Given the description of an element on the screen output the (x, y) to click on. 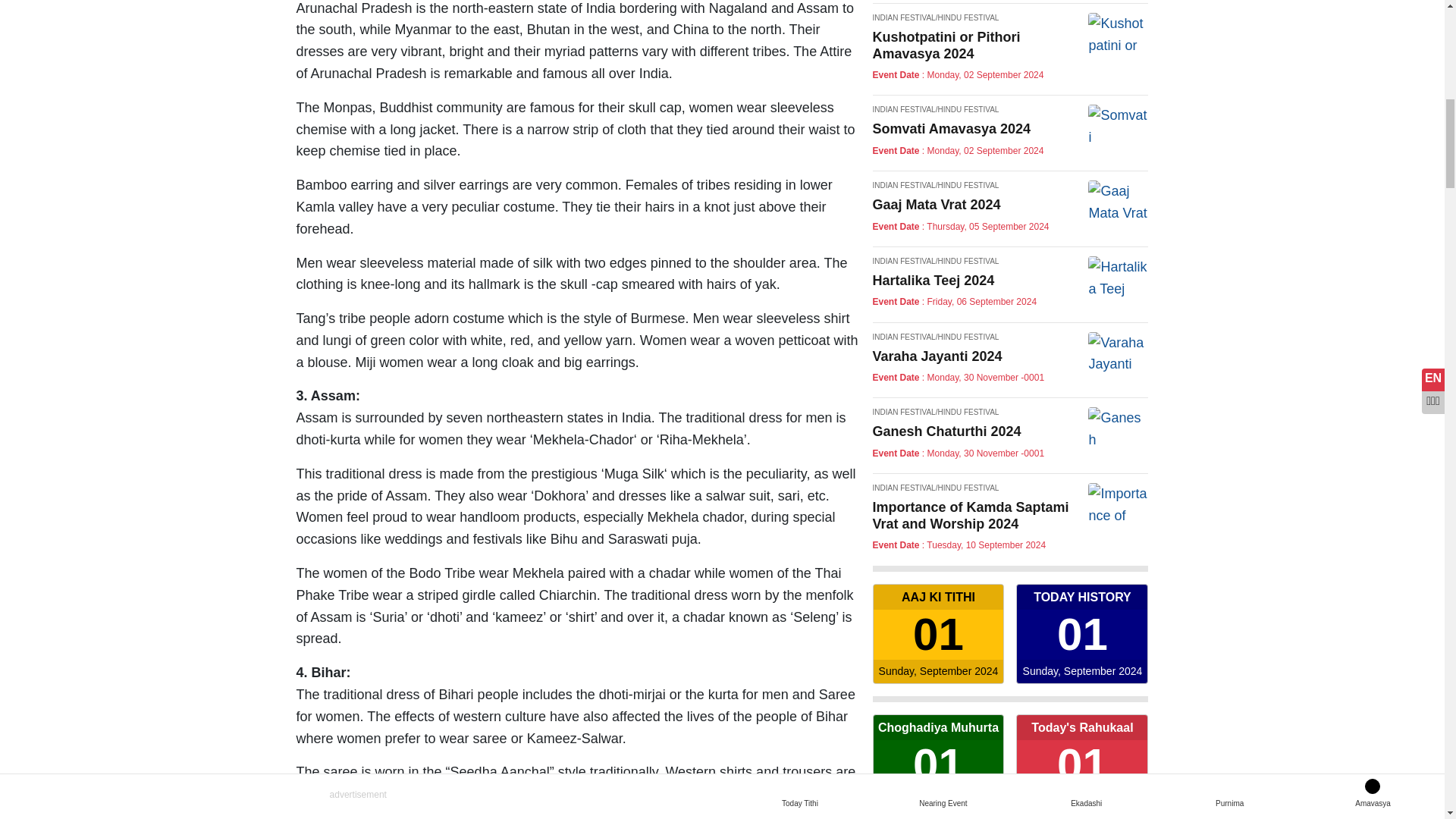
Kushotpatini or Pithori Amavasya 2024 (938, 764)
